Given the description of an element on the screen output the (x, y) to click on. 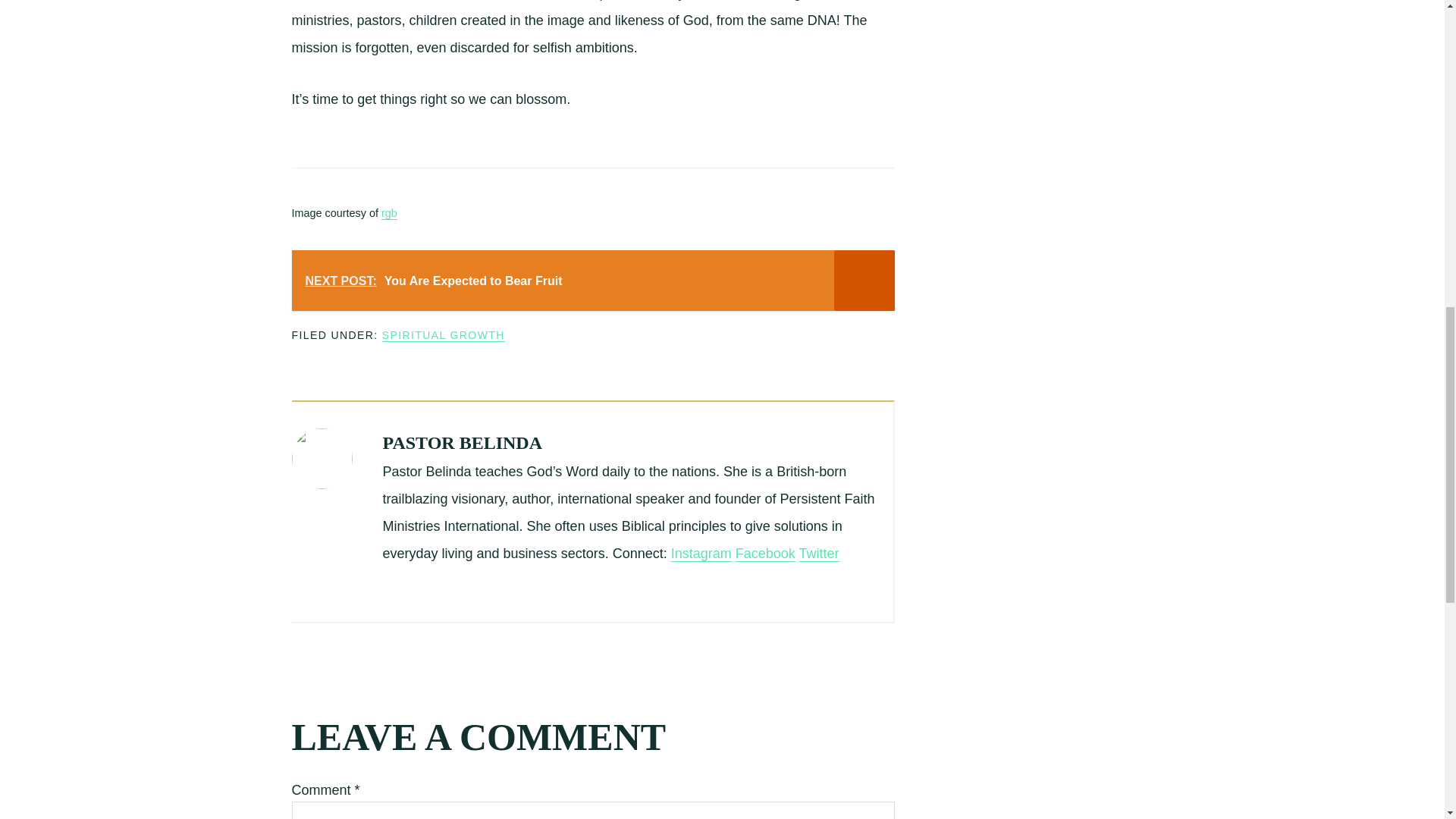
rgb (389, 213)
Twitter (819, 553)
SPIRITUAL GROWTH (443, 335)
Facebook (764, 553)
NEXT POST:  You Are Expected to Bear Fruit (592, 280)
Instagram (701, 553)
